Given the description of an element on the screen output the (x, y) to click on. 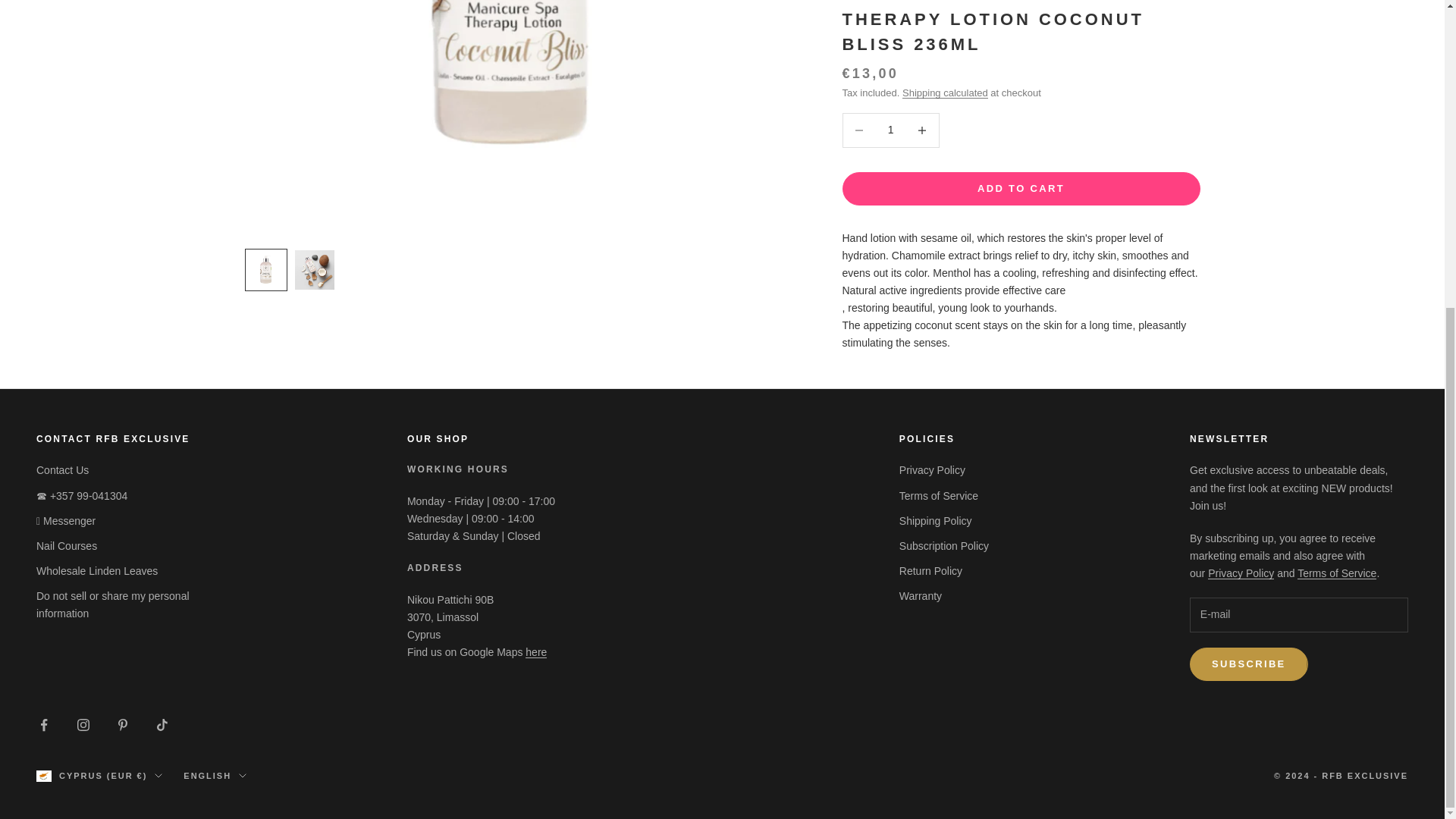
Terms Of Service (1336, 573)
RFB Exclusive Shop (536, 652)
Privacy Policy (1241, 573)
